Given the description of an element on the screen output the (x, y) to click on. 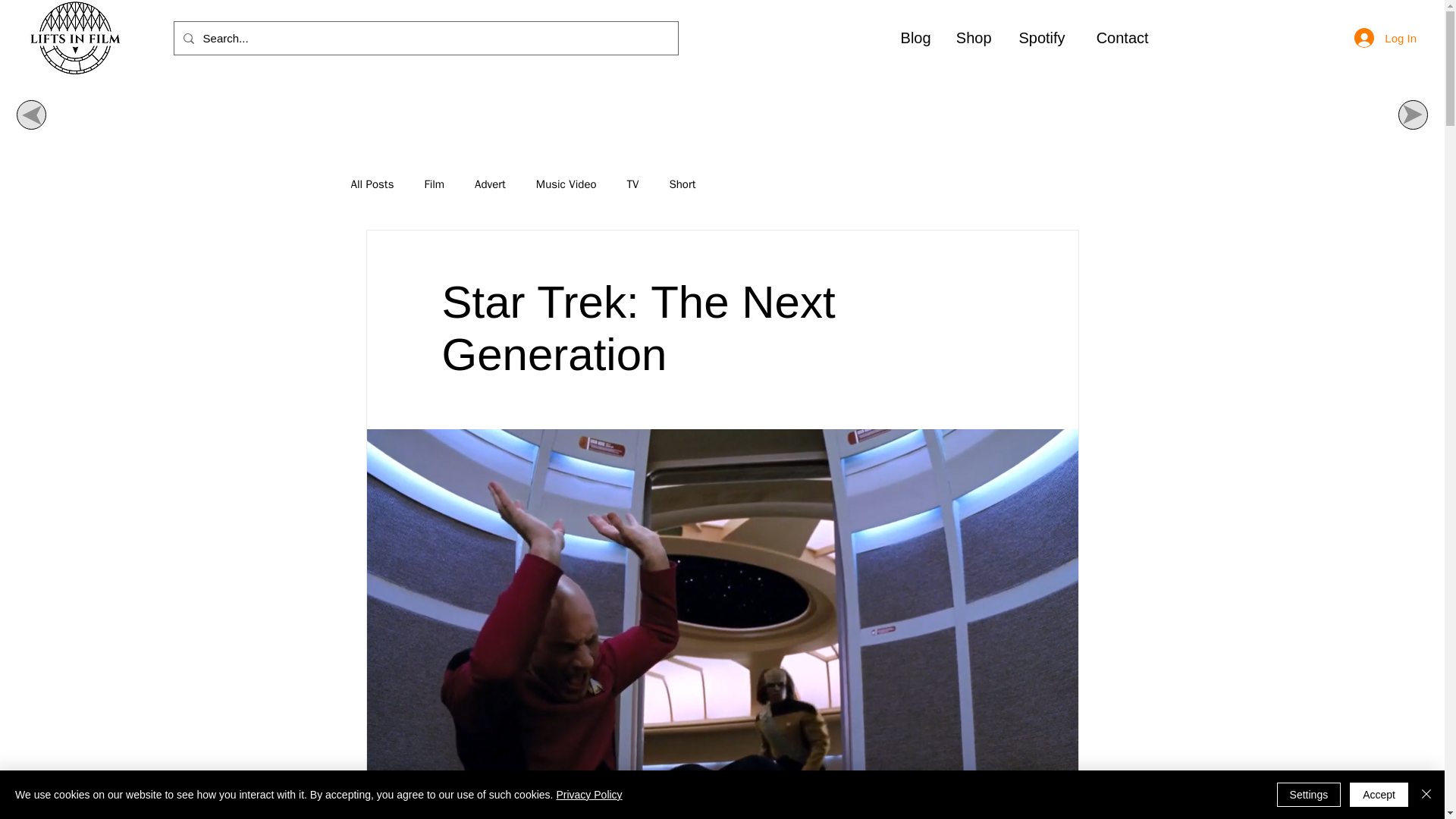
Short (681, 184)
Advert (489, 184)
Spotify (1040, 38)
Contact (1118, 38)
Log In (1384, 37)
Film (433, 184)
Music Video (565, 184)
Shop (972, 38)
All Posts (371, 184)
Blog (914, 38)
